Given the description of an element on the screen output the (x, y) to click on. 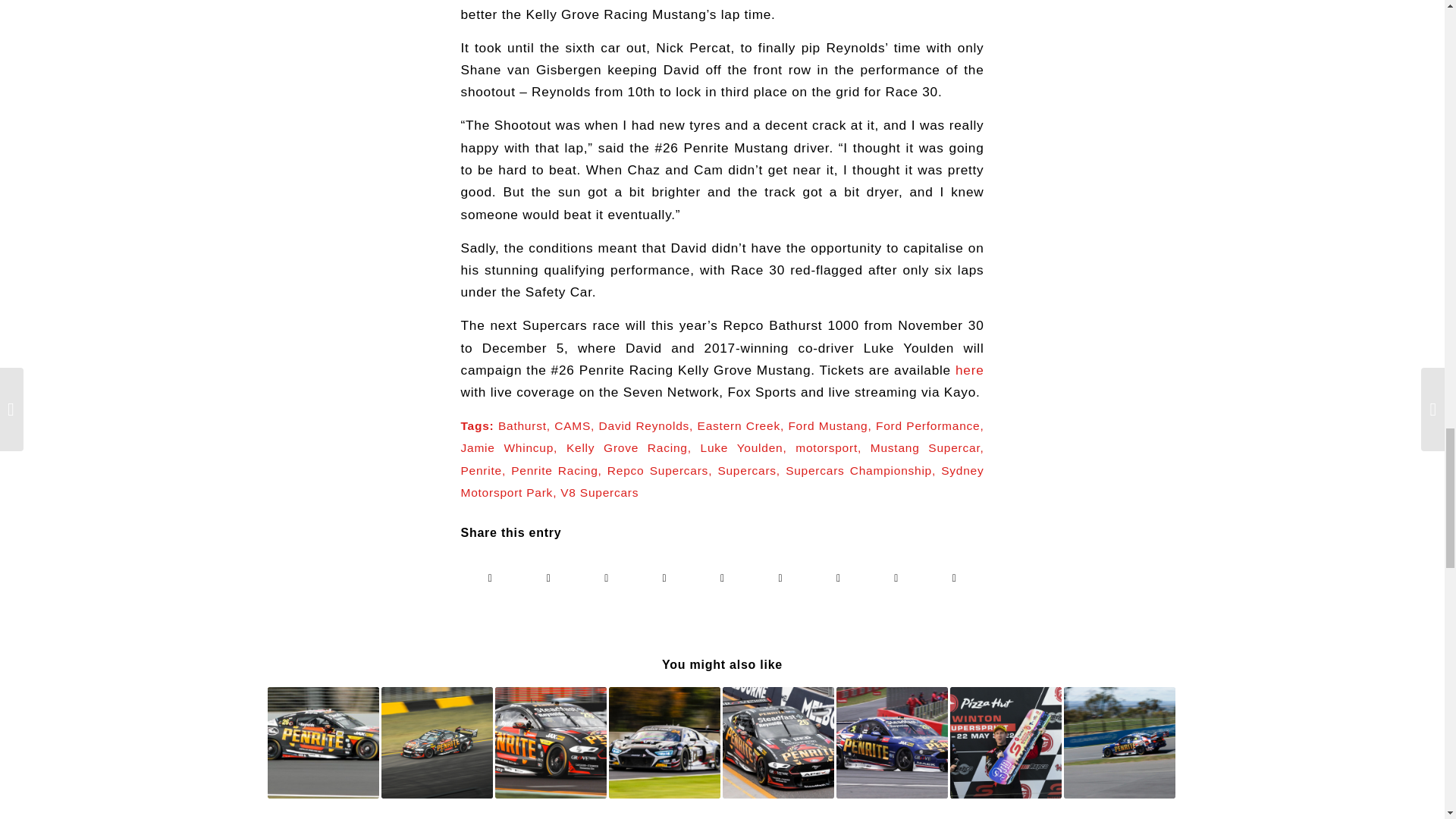
Ford Mustang (827, 425)
Kelly Grove Racing (626, 447)
here (969, 369)
Eastern Creek (738, 425)
Penrite (481, 470)
Luke Youlden (741, 447)
Ford Performance (927, 425)
motorsport (825, 447)
Supercars (746, 470)
Penrite Racing (553, 470)
Sydney Motorsport Park (722, 481)
V8 Supercars (599, 492)
Jamie Whincup (507, 447)
David Reynolds (644, 425)
CAMS (572, 425)
